Given the description of an element on the screen output the (x, y) to click on. 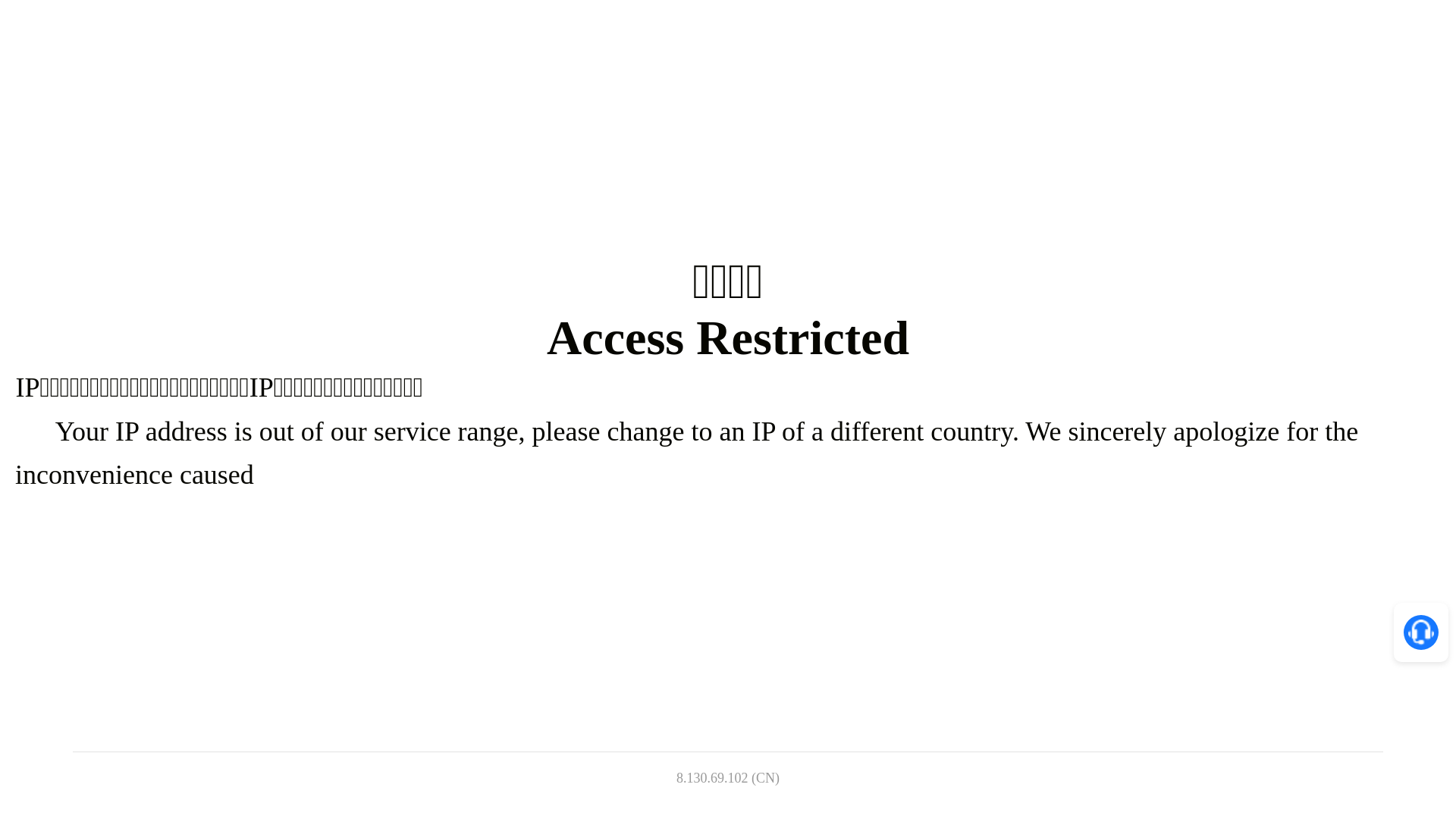
Registro Element type: text (727, 474)
Login Agora Element type: text (831, 523)
Registro Element type: text (1232, 30)
Entrar Element type: text (1141, 30)
